Given the description of an element on the screen output the (x, y) to click on. 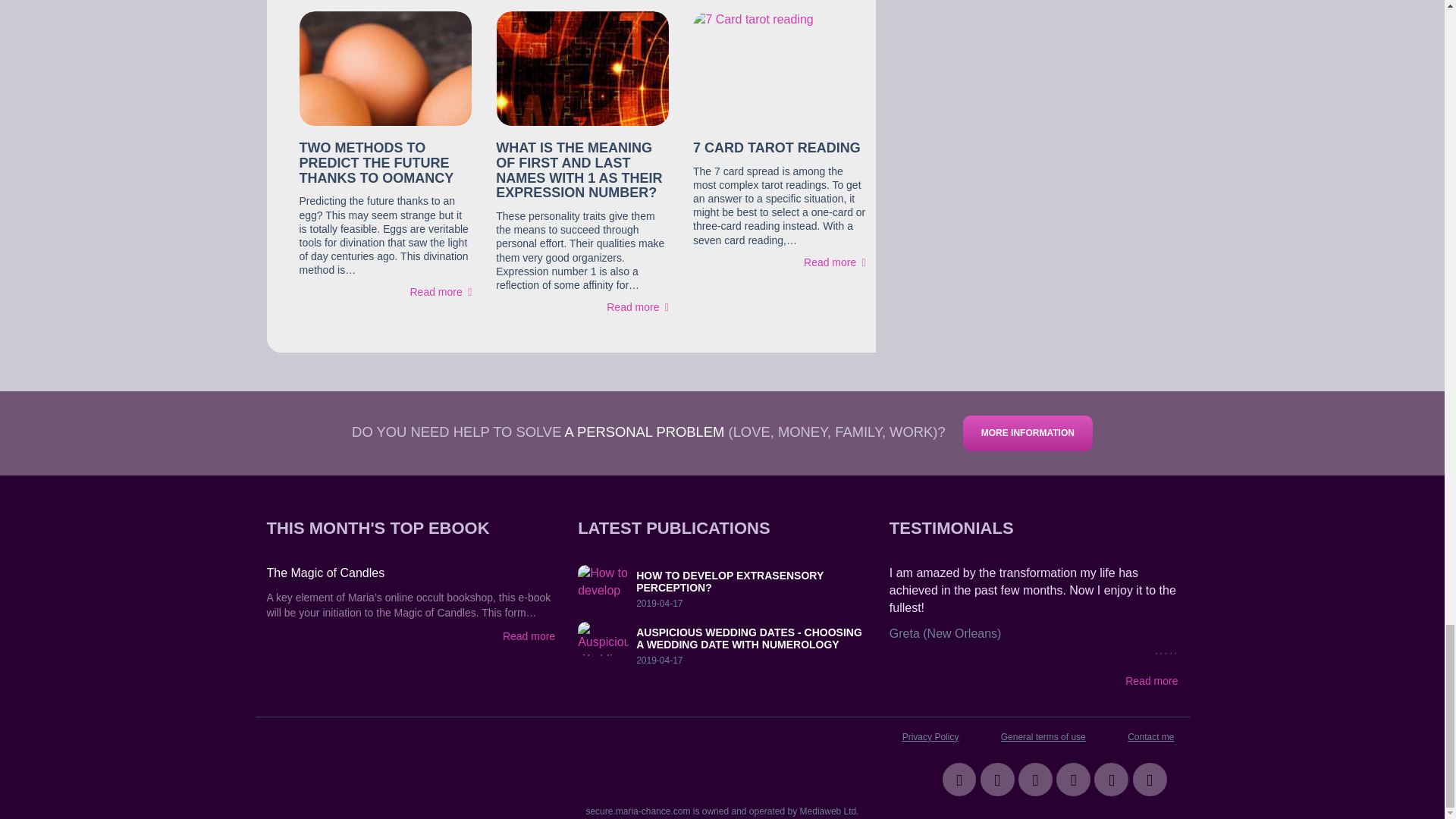
Two methods to predict the future thanks to Oomancy (375, 162)
Two methods to predict the future thanks to Oomancy (440, 291)
Two methods to predict the future thanks to Oomancy (384, 68)
